Given the description of an element on the screen output the (x, y) to click on. 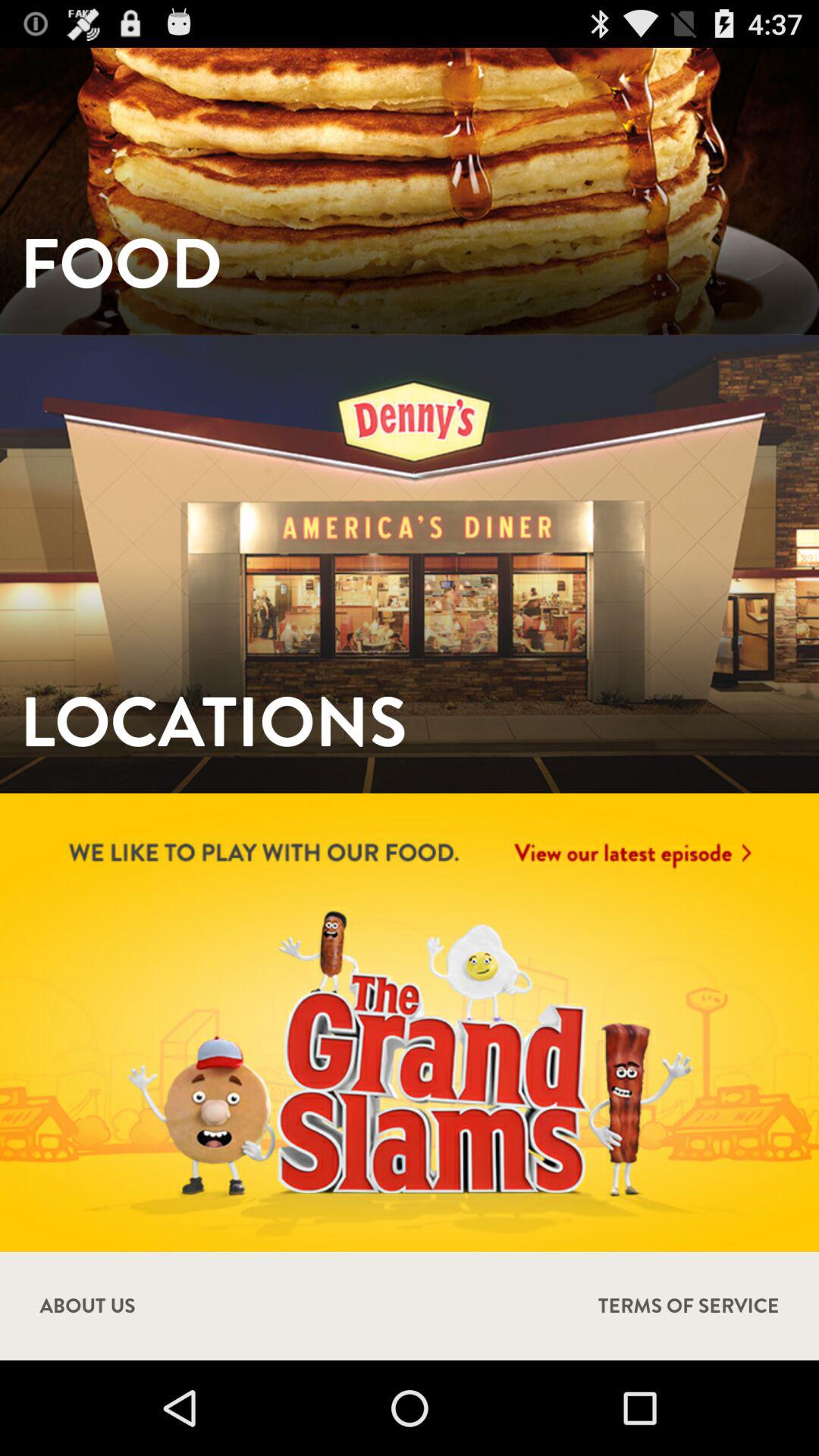
scroll until about us (87, 1305)
